Given the description of an element on the screen output the (x, y) to click on. 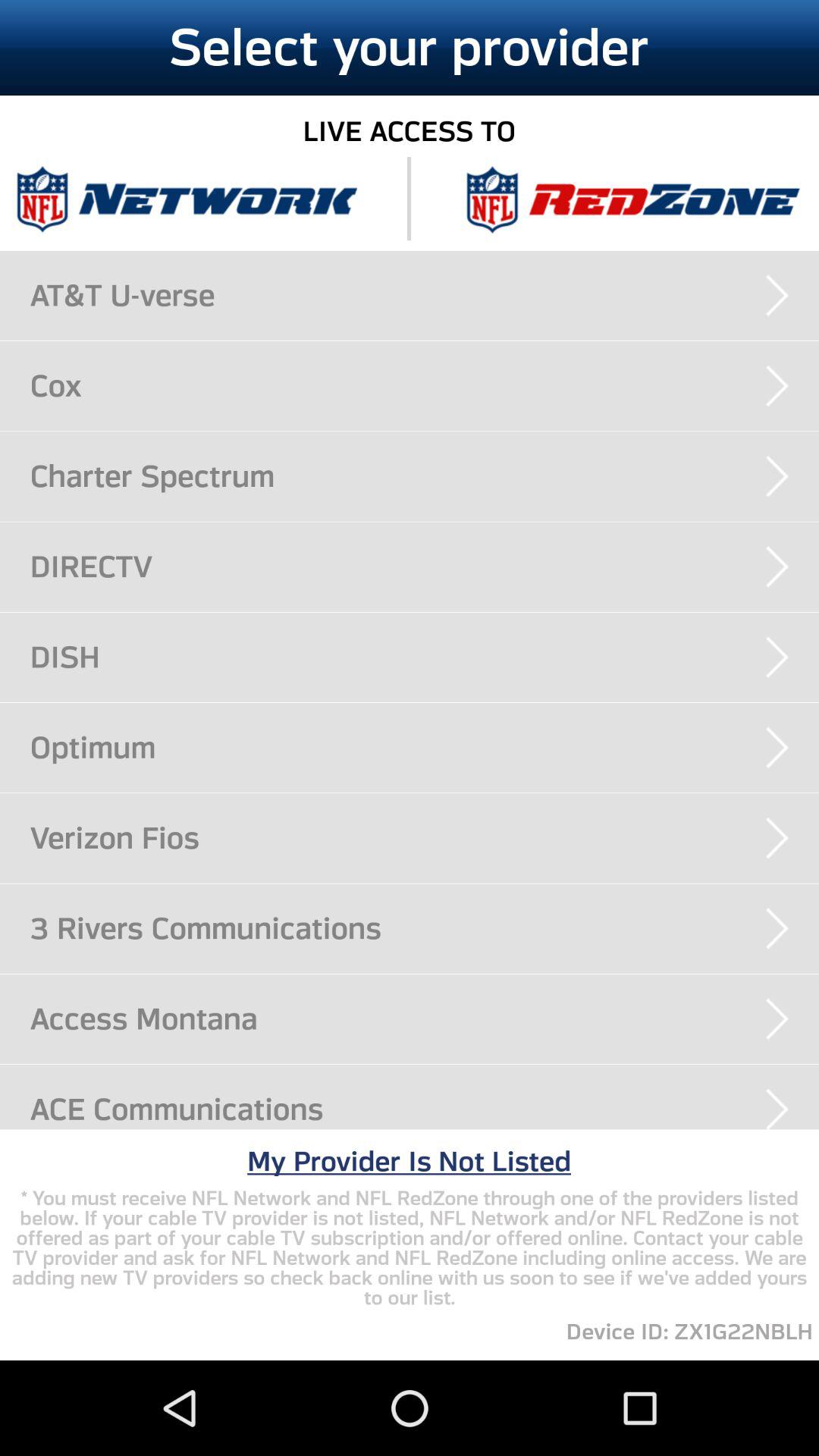
select the directv app (424, 566)
